Given the description of an element on the screen output the (x, y) to click on. 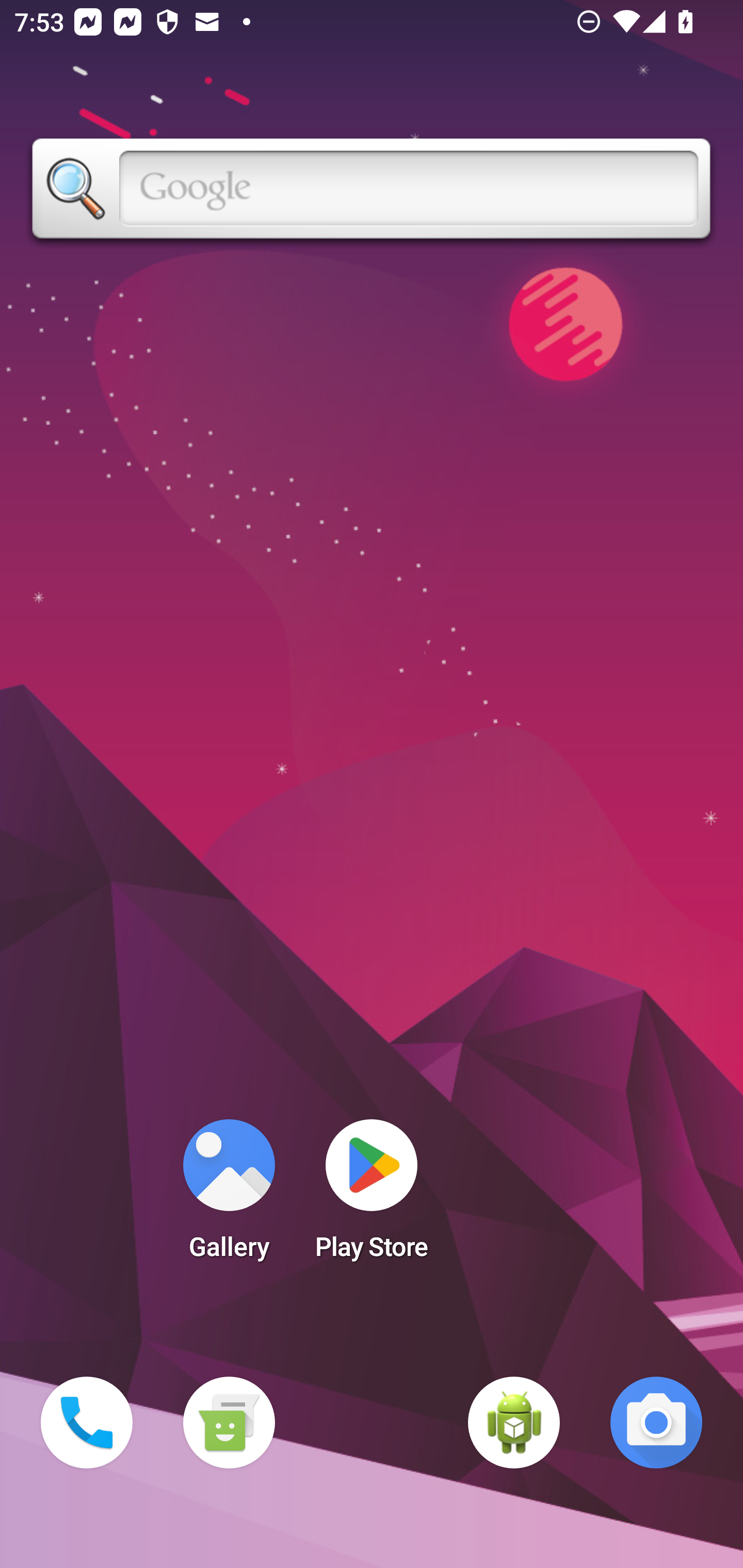
Gallery (228, 1195)
Play Store (371, 1195)
Phone (86, 1422)
Messaging (228, 1422)
WebView Browser Tester (513, 1422)
Camera (656, 1422)
